Given the description of an element on the screen output the (x, y) to click on. 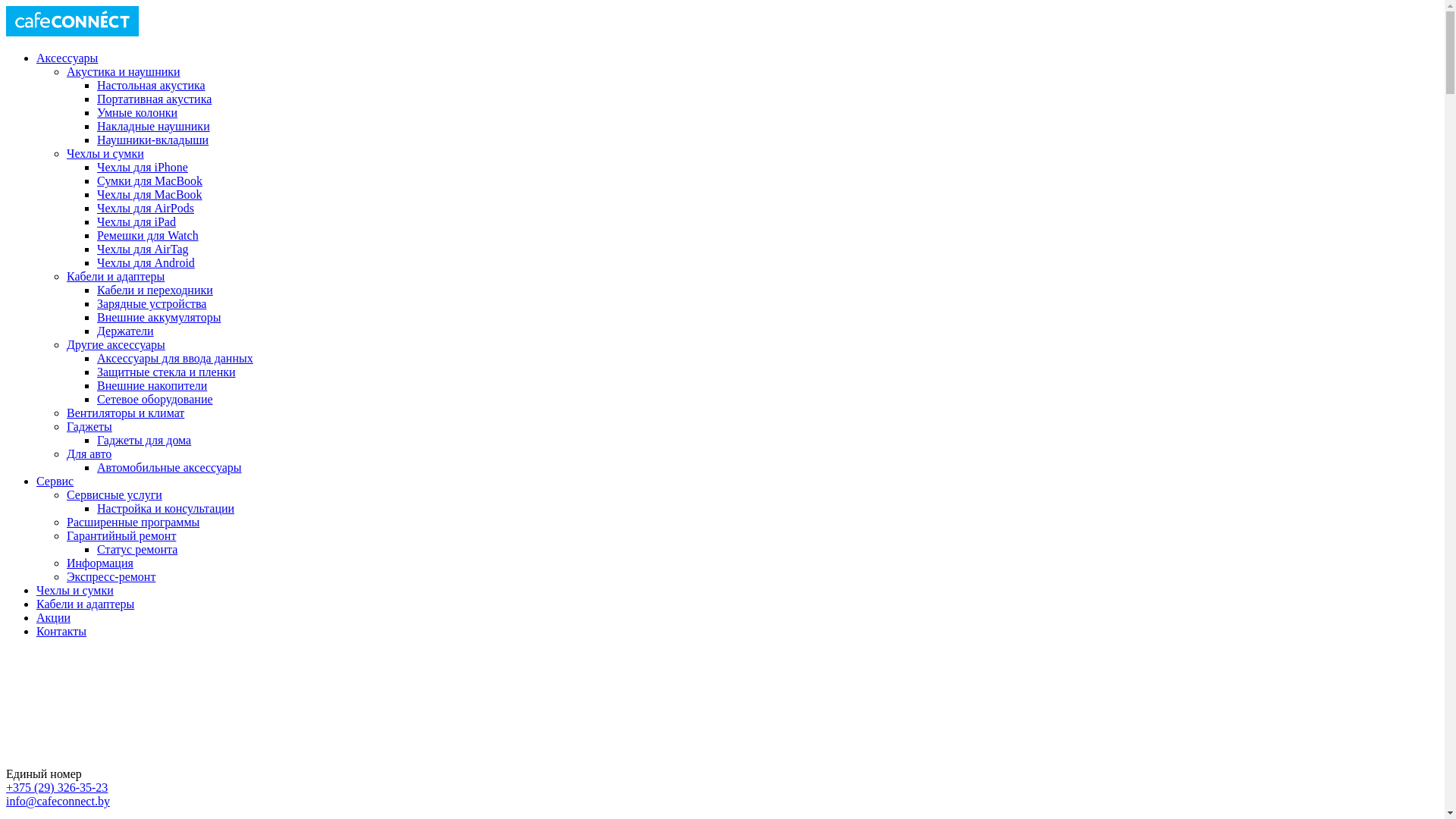
info@cafeconnect.by Element type: text (57, 800)
+375 (29) 326-35-23 Element type: text (56, 787)
